Given the description of an element on the screen output the (x, y) to click on. 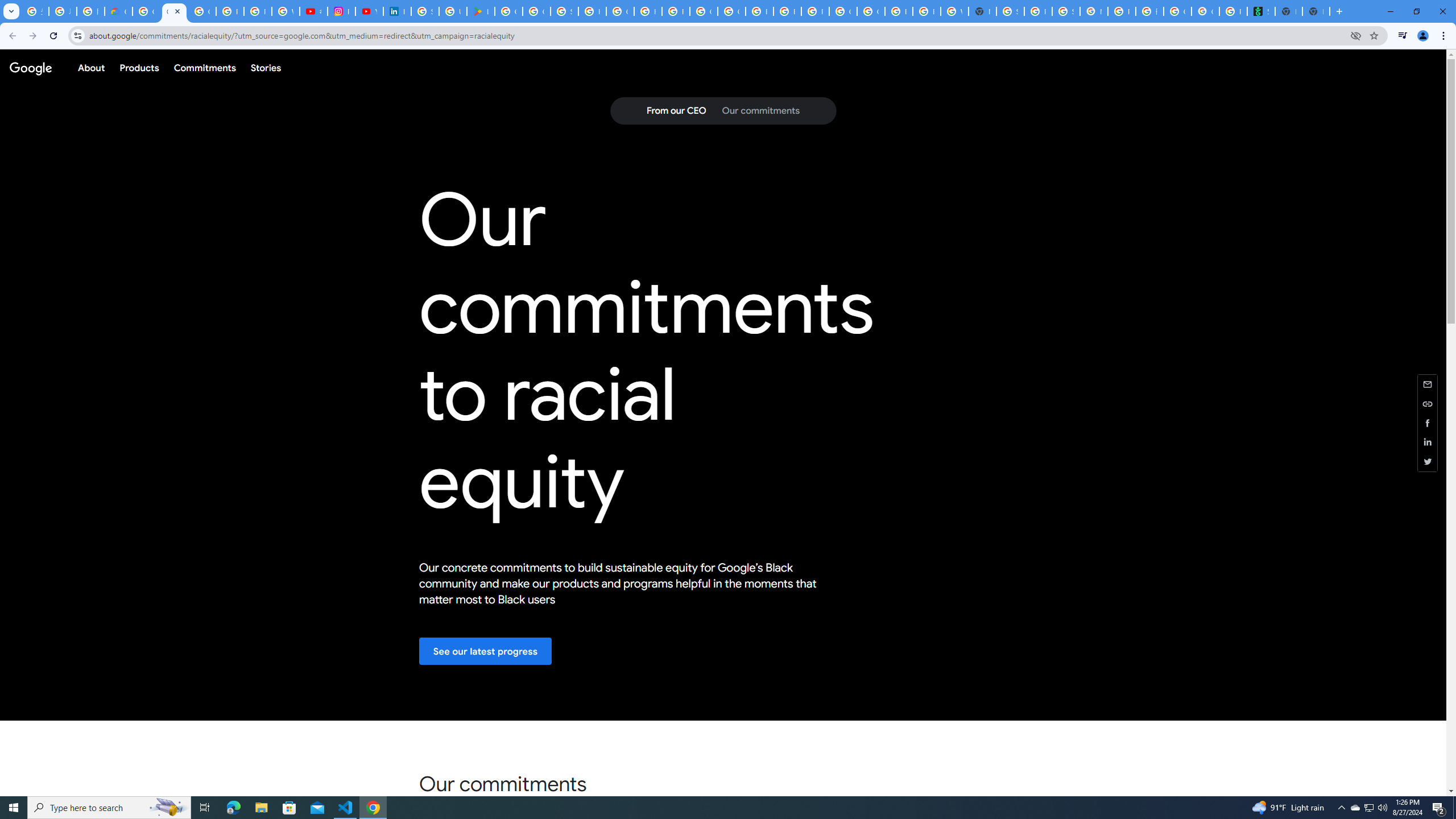
Browse Chrome as a guest - Computer - Google Chrome Help (926, 11)
Last Shelter: Survival - Apps on Google Play (480, 11)
Third-party cookies blocked (1355, 35)
Google Cloud Platform (870, 11)
Sign in - Google Accounts (564, 11)
Browse Chrome as a guest - Computer - Google Chrome Help (787, 11)
Google Cloud Platform (842, 11)
